Given the description of an element on the screen output the (x, y) to click on. 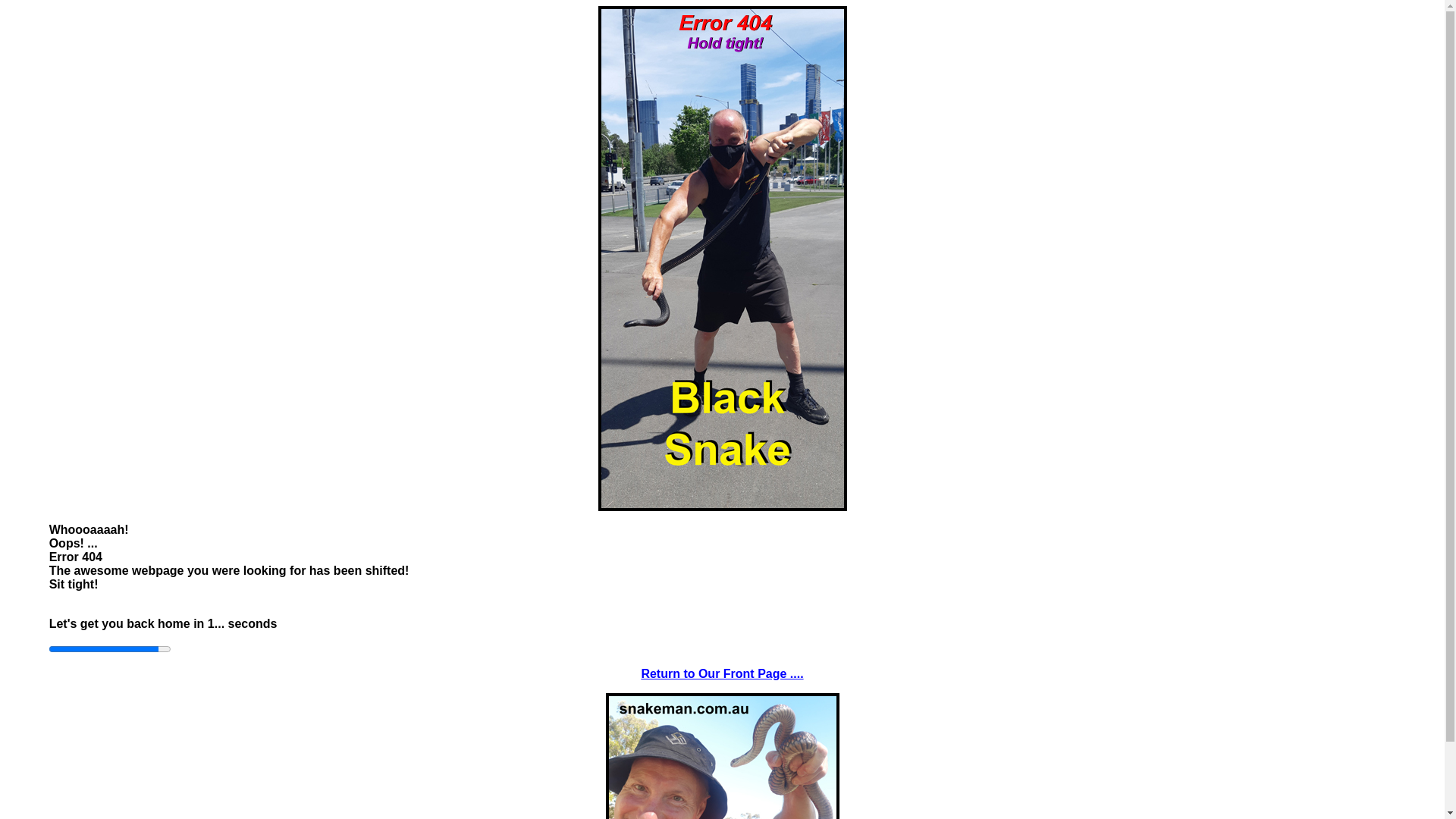
snake-man-404 Element type: hover (721, 258)
Return to Our Front Page .... Element type: text (721, 673)
